Given the description of an element on the screen output the (x, y) to click on. 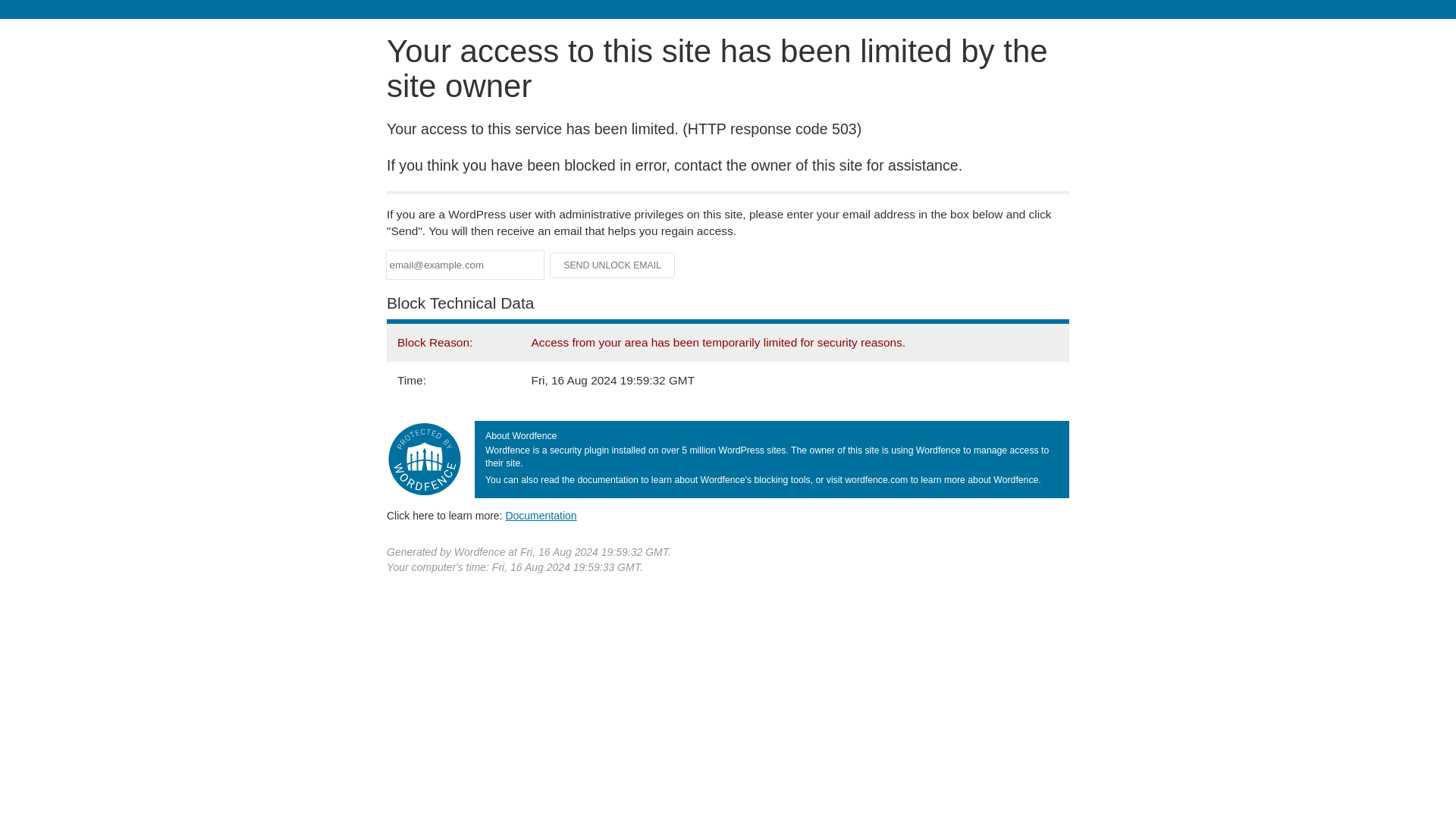
Documentation (540, 515)
Send Unlock Email (612, 265)
Send Unlock Email (612, 265)
